Given the description of an element on the screen output the (x, y) to click on. 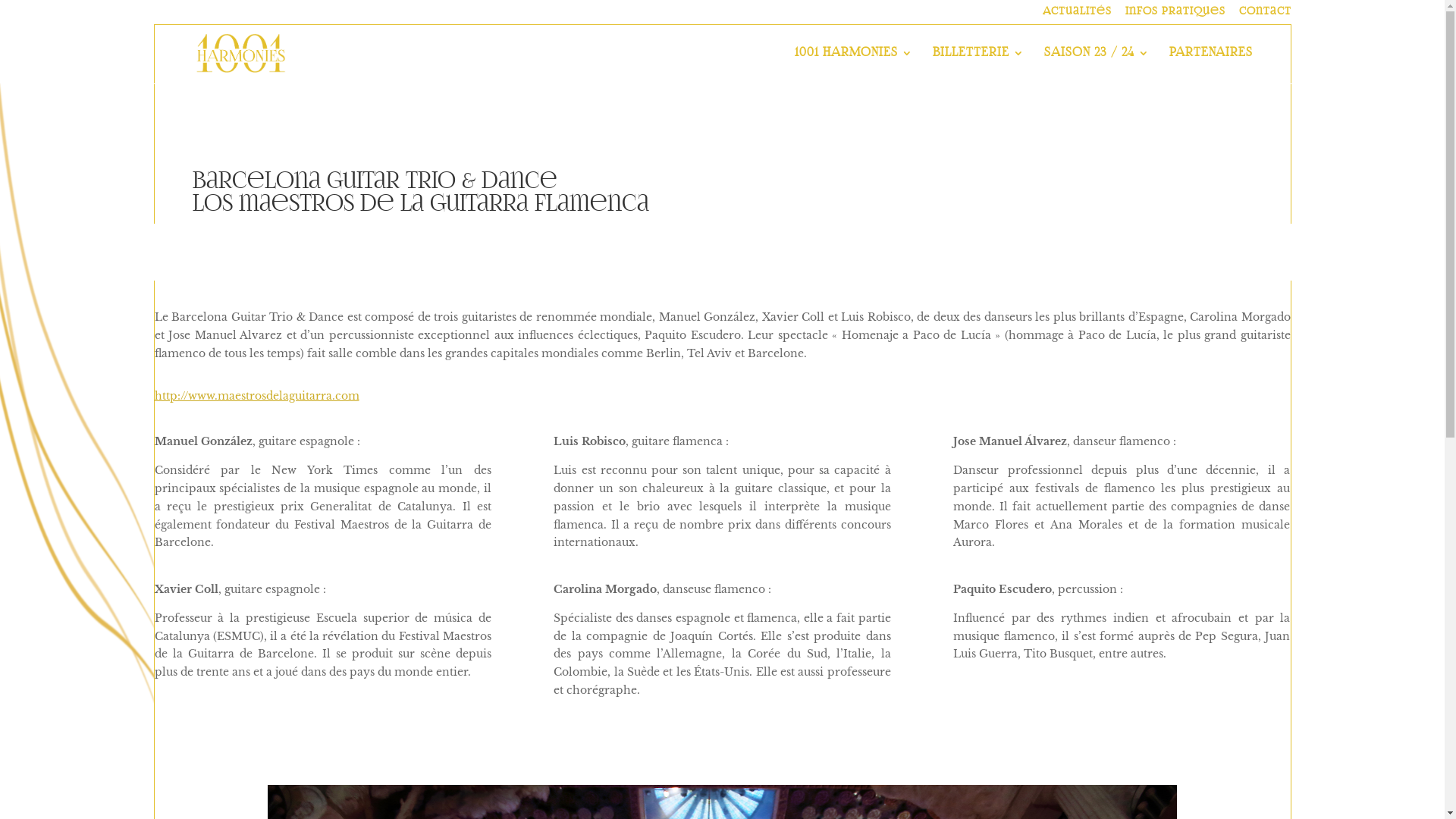
Infos pratiques Element type: text (1175, 15)
SAISON 23 / 24 Element type: text (1095, 65)
1001 HARMONIES Element type: text (853, 65)
PARTENAIRES Element type: text (1210, 65)
Contact Element type: text (1265, 15)
BILLETTERIE Element type: text (978, 65)
http://www.maestrosdelaguitarra.com Element type: text (256, 395)
